Given the description of an element on the screen output the (x, y) to click on. 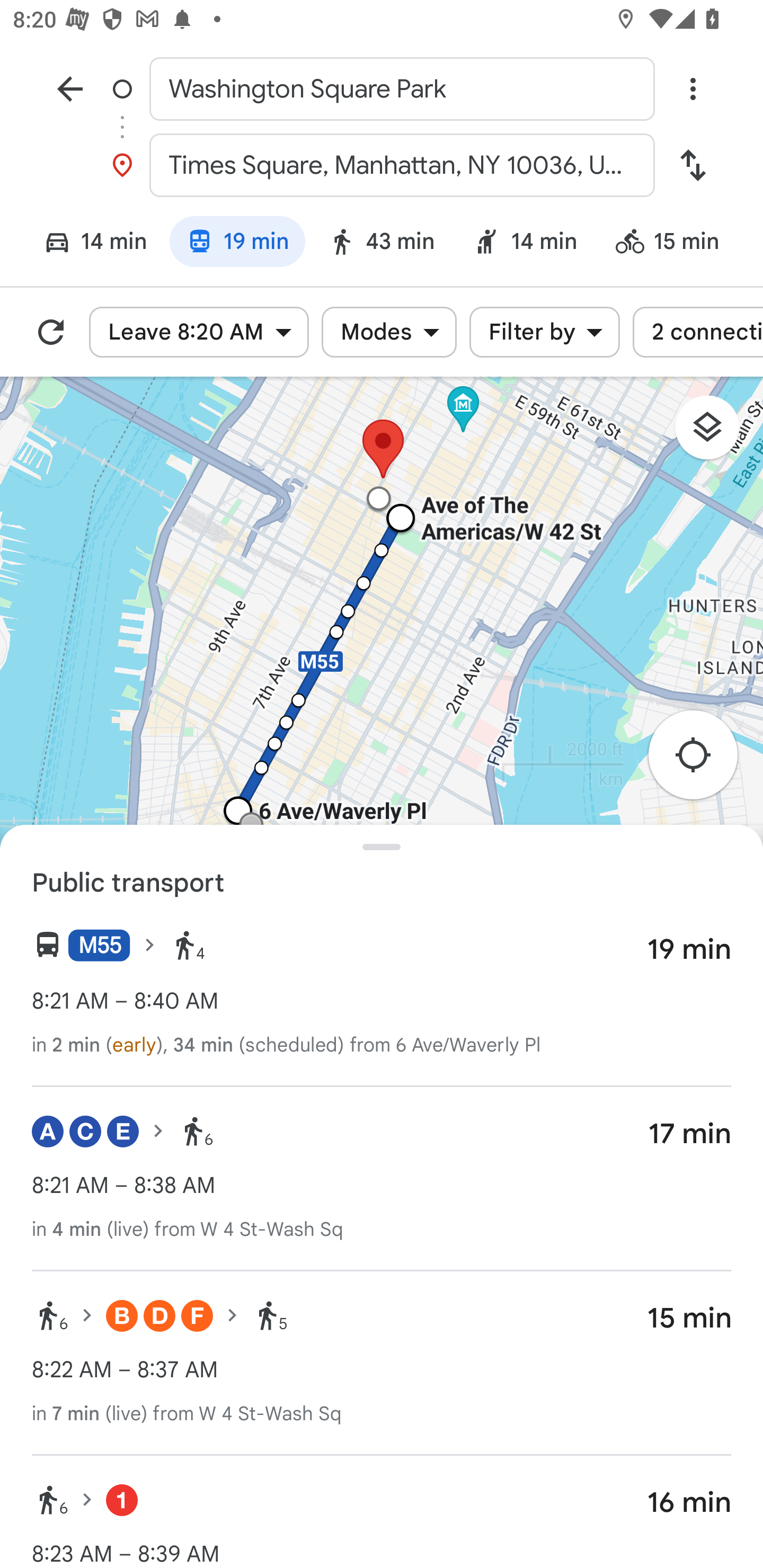
Navigate up (70, 88)
Overflow menu (692, 88)
Swap start and destination (692, 165)
Driving mode: 14 min 14 min (86, 244)
Walking mode: 43 min 43 min (380, 244)
Ride service: 14 min 14 min (524, 244)
Bicycling mode: 15 min 15 min (675, 244)
Refresh (50, 332)
Leave 8:20 AM Leave 8:20 AM Leave 8:20 AM (199, 332)
Modes Modes Modes (389, 332)
Filter by Filter by Filter by (544, 332)
Layers (716, 433)
Re-center map to your location (702, 760)
